Given the description of an element on the screen output the (x, y) to click on. 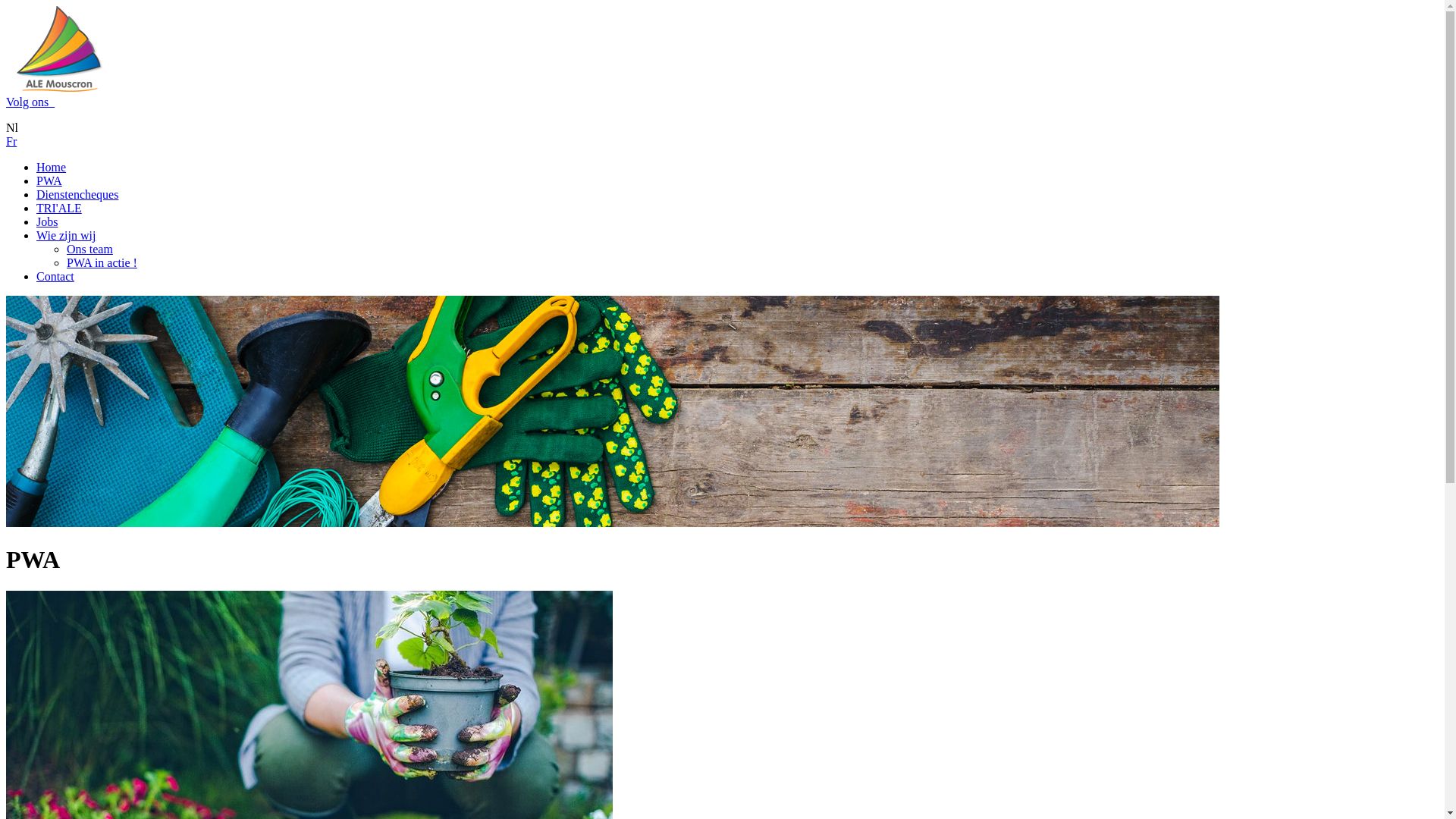
Fr Element type: text (11, 140)
Home Element type: text (50, 166)
Jobs Element type: text (46, 221)
TRI'ALE Element type: text (58, 207)
PWA Element type: text (49, 180)
Volg ons   Element type: text (30, 101)
Wie zijn wij Element type: text (65, 235)
Dienstencheques Element type: text (77, 194)
ALE Mouscron Element type: hover (59, 49)
Ons team Element type: text (89, 248)
PWA in actie ! Element type: text (101, 262)
Contact Element type: text (55, 275)
